Given the description of an element on the screen output the (x, y) to click on. 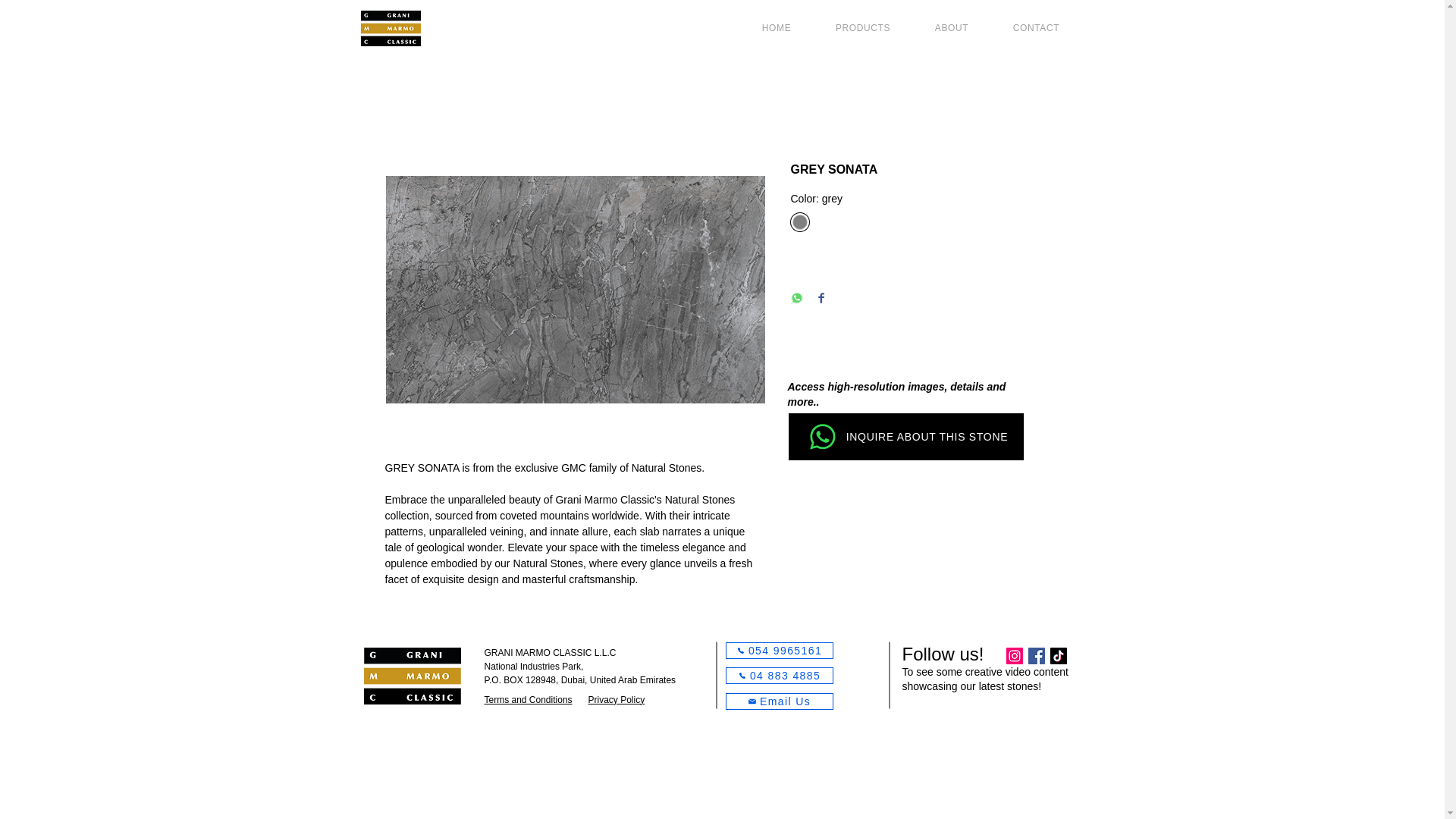
ABOUT (951, 27)
HOME (776, 27)
INQUIRE ABOUT THIS STONE (906, 436)
04 883 4885 (778, 675)
CONTACT (1035, 27)
Terms and Conditions (527, 699)
GRANI MARMO CLASSIC L.L.C (549, 652)
PRODUCTS (863, 27)
Privacy Policy (616, 699)
Email Us (778, 701)
Follow us! (943, 653)
054 9965161 (778, 650)
National Industries Park, (533, 665)
P.O. BOX 128948,  (521, 679)
